Given the description of an element on the screen output the (x, y) to click on. 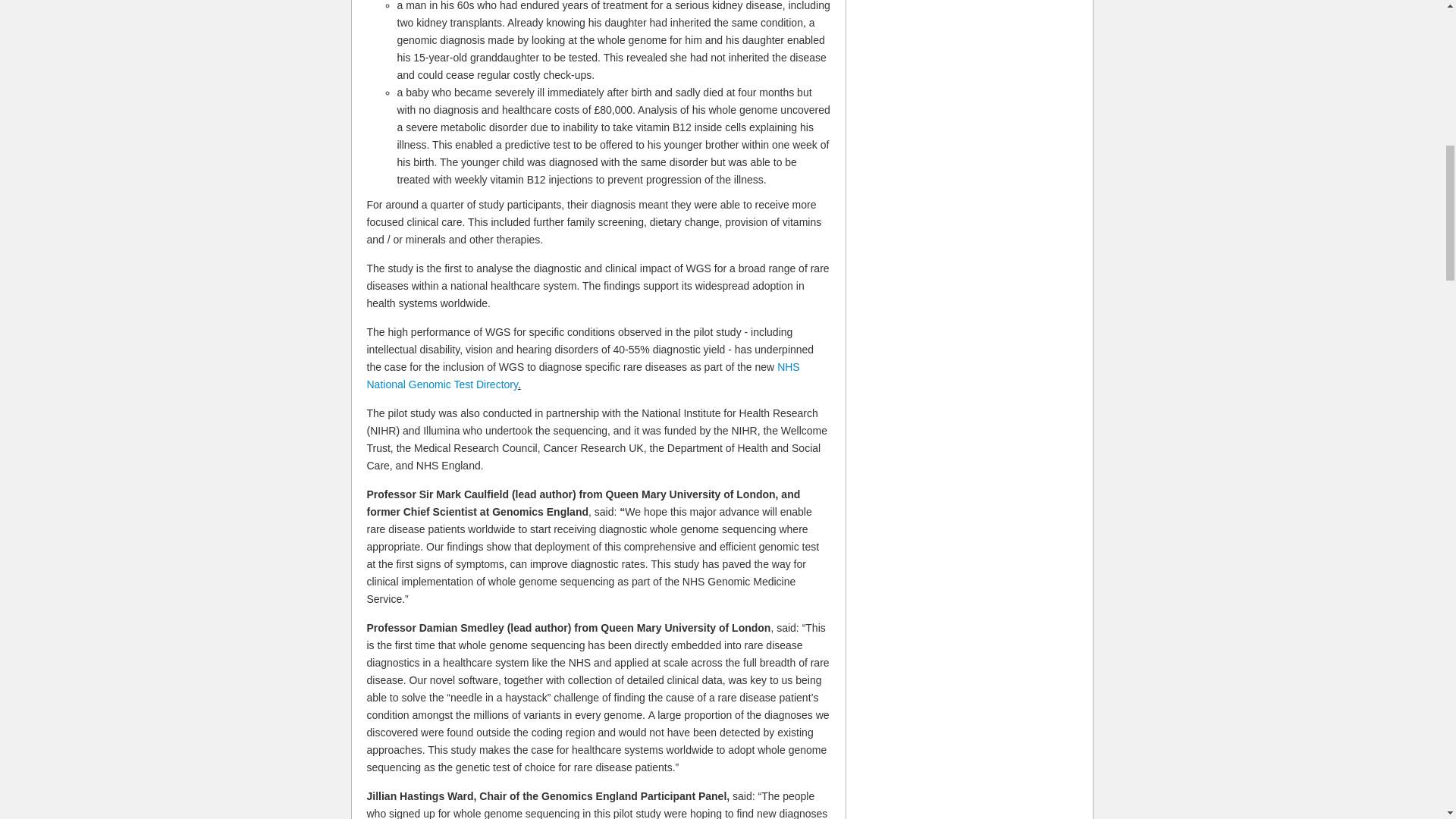
NHS National Genomic Test Directory (582, 375)
